Given the description of an element on the screen output the (x, y) to click on. 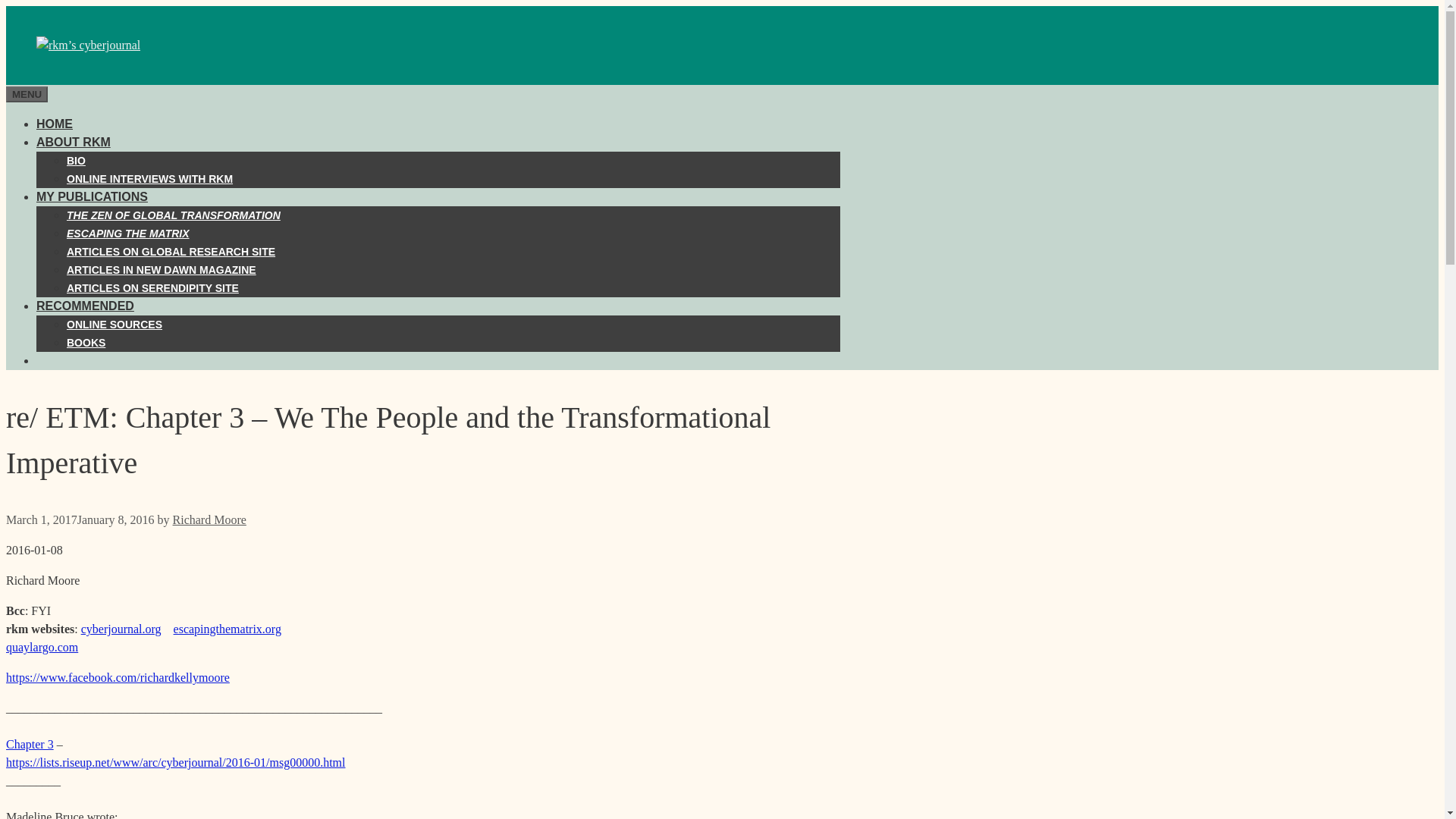
escapingthematrix.org (227, 628)
BOOKS (85, 342)
ARTICLES ON GLOBAL RESEARCH SITE (170, 251)
quaylargo.com (41, 646)
ARTICLES ON SERENDIPITY SITE (152, 287)
RECOMMENDED (84, 305)
View all posts by Richard Moore (209, 519)
Chapter 3 (29, 744)
THE ZEN OF GLOBAL TRANSFORMATION (173, 215)
